Given the description of an element on the screen output the (x, y) to click on. 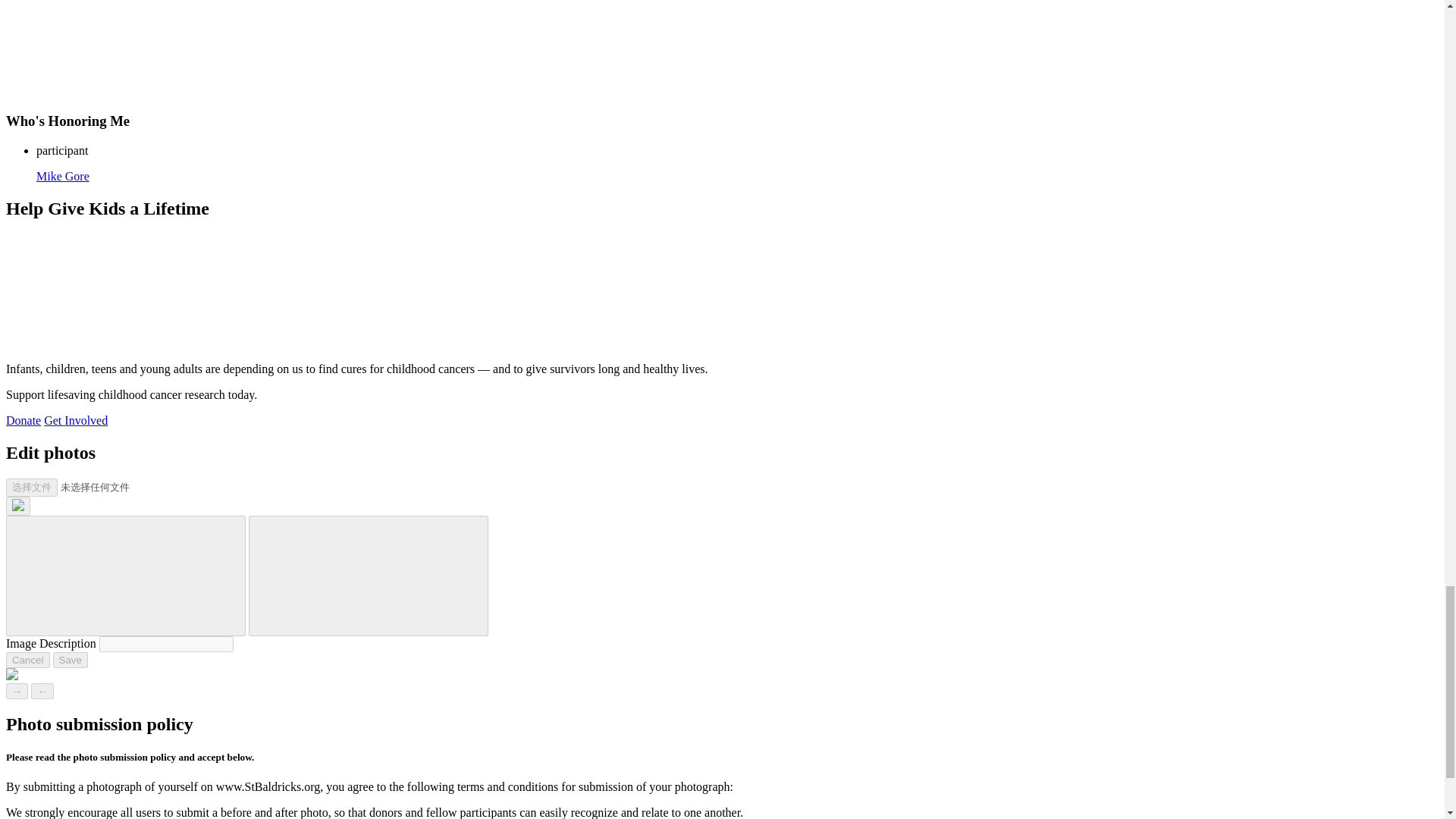
Donate (22, 420)
Save (69, 659)
Get Involved (75, 420)
Cancel (27, 659)
